Given the description of an element on the screen output the (x, y) to click on. 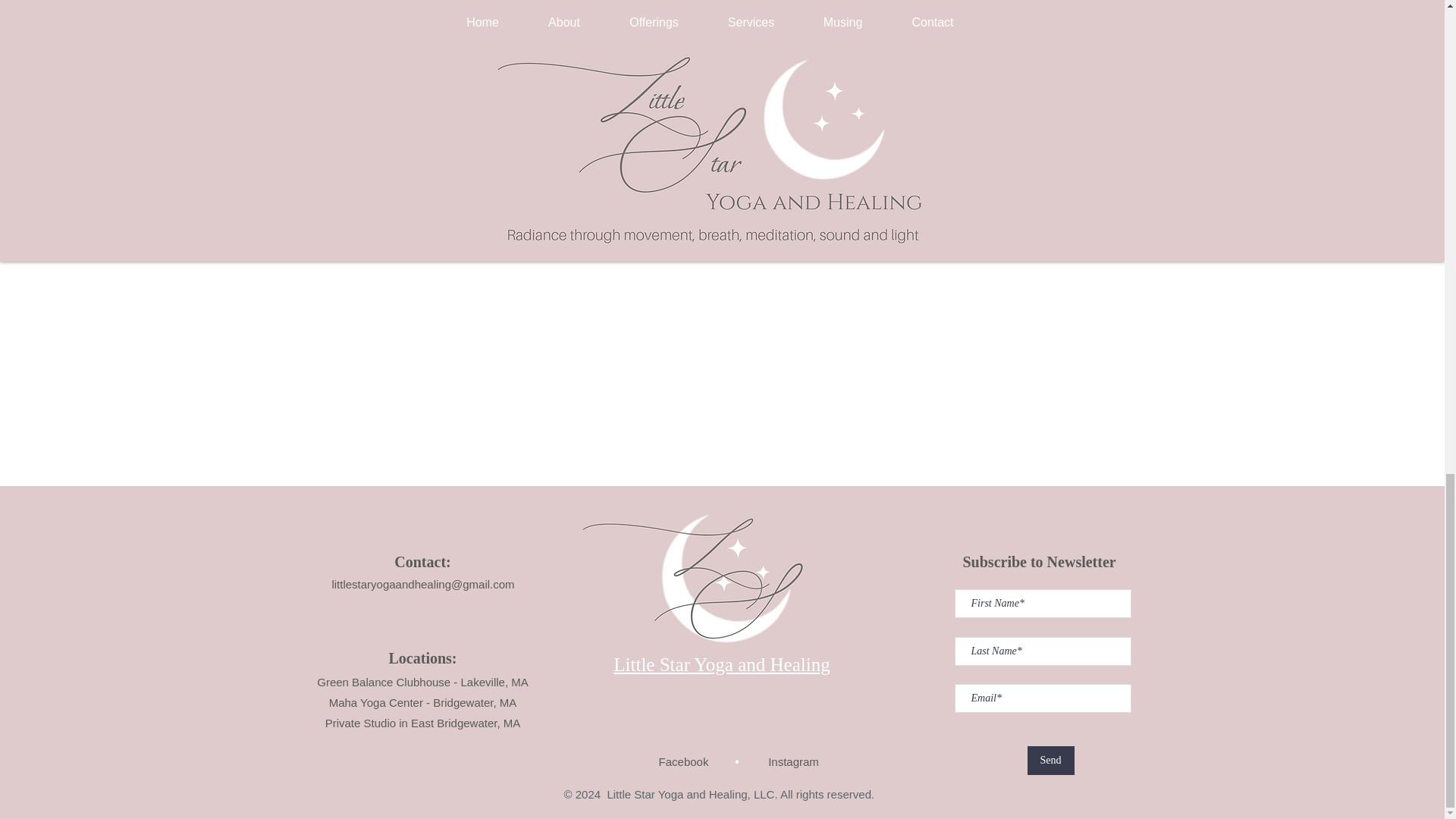
Little Star Yoga and Healing (720, 664)
Subscribe to Newsletter (1039, 561)
Send (1050, 760)
Facebook (684, 761)
Contact: (421, 561)
Maha Yoga Center - Bridgewater, MA (422, 702)
logo biz layered LSFooter.png (714, 576)
Instagram (793, 761)
